Given the description of an element on the screen output the (x, y) to click on. 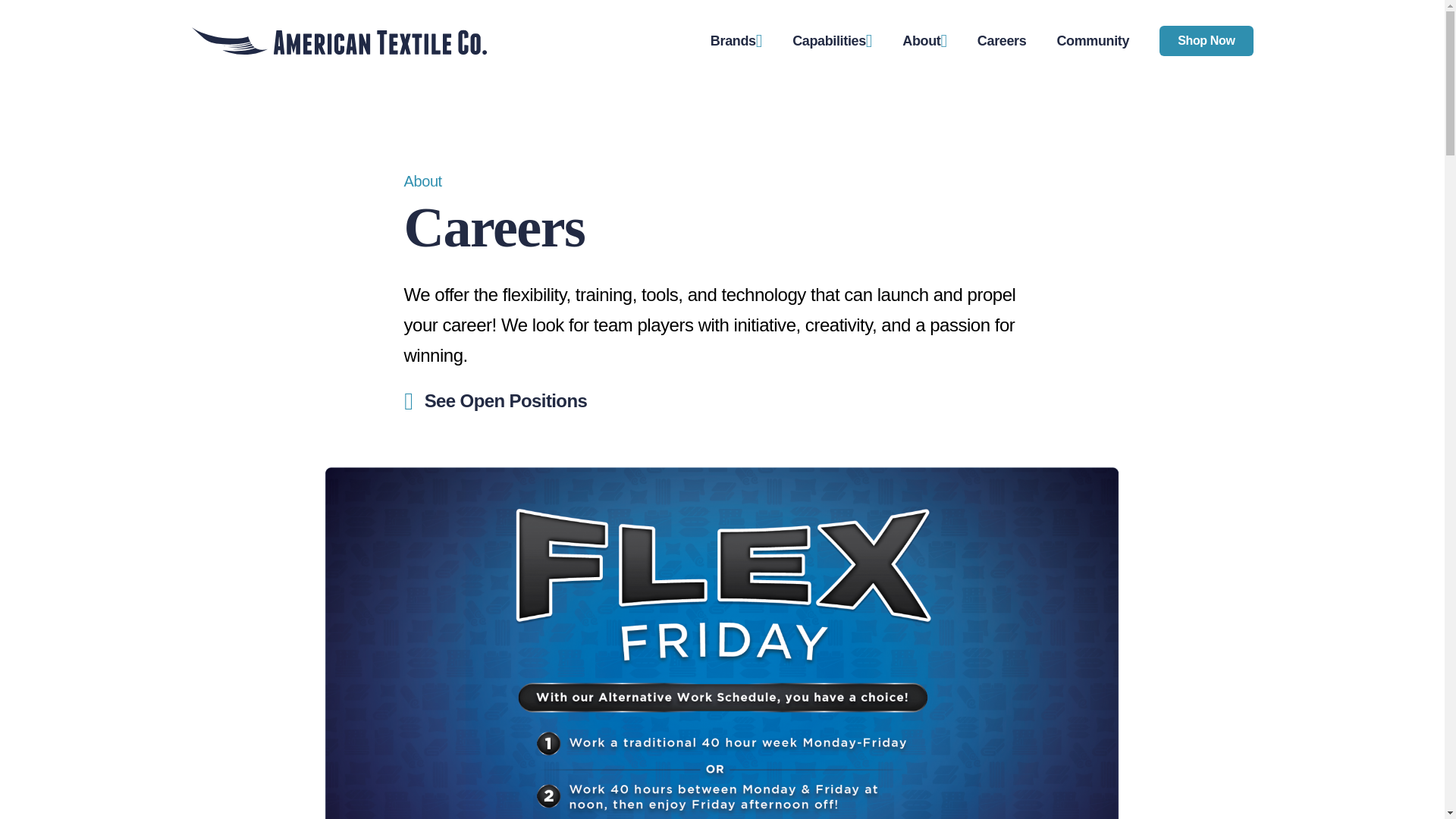
Capabilities (832, 40)
About (924, 40)
Shop Now (1205, 40)
See Open Positions (471, 398)
Brands (735, 40)
American Textile Company (338, 40)
Community (1093, 39)
Careers (1001, 39)
